Given the description of an element on the screen output the (x, y) to click on. 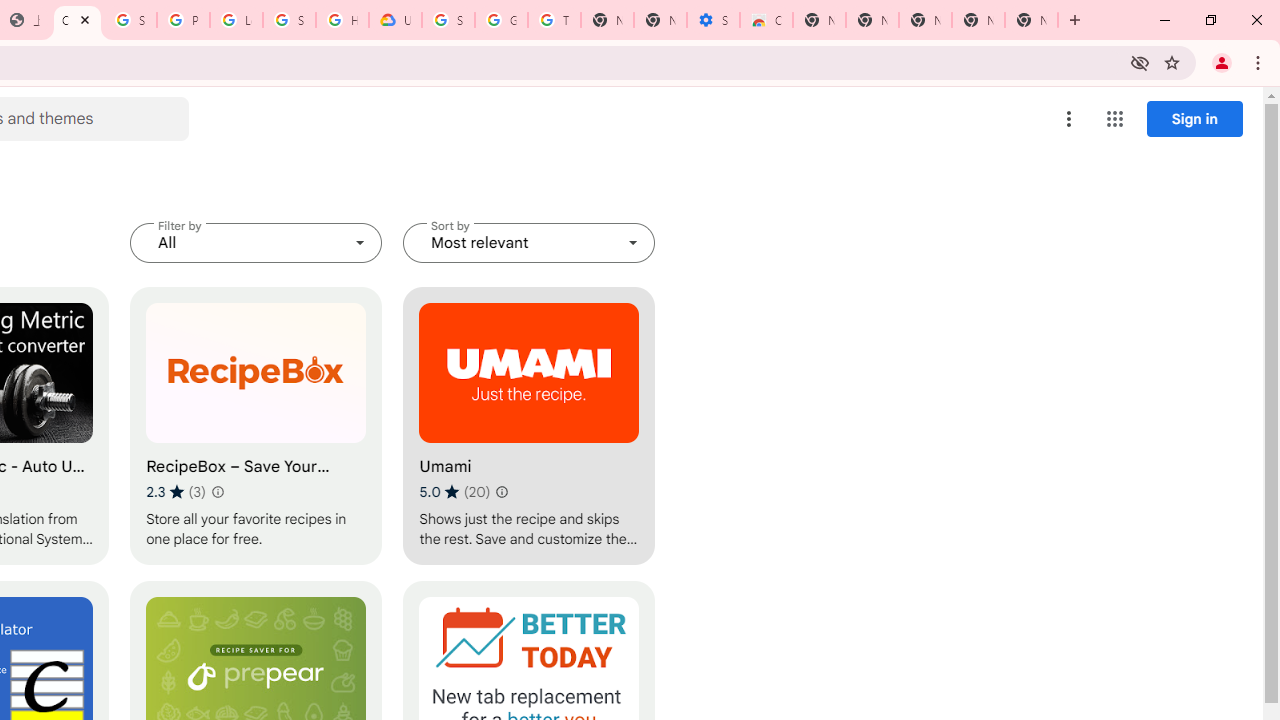
Learn more about results and reviews "Umami" (502, 491)
New Tab (819, 20)
Turn cookies on or off - Computer - Google Account Help (554, 20)
Sign in - Google Accounts (130, 20)
Chrome Web Store - Household (77, 20)
